Given the description of an element on the screen output the (x, y) to click on. 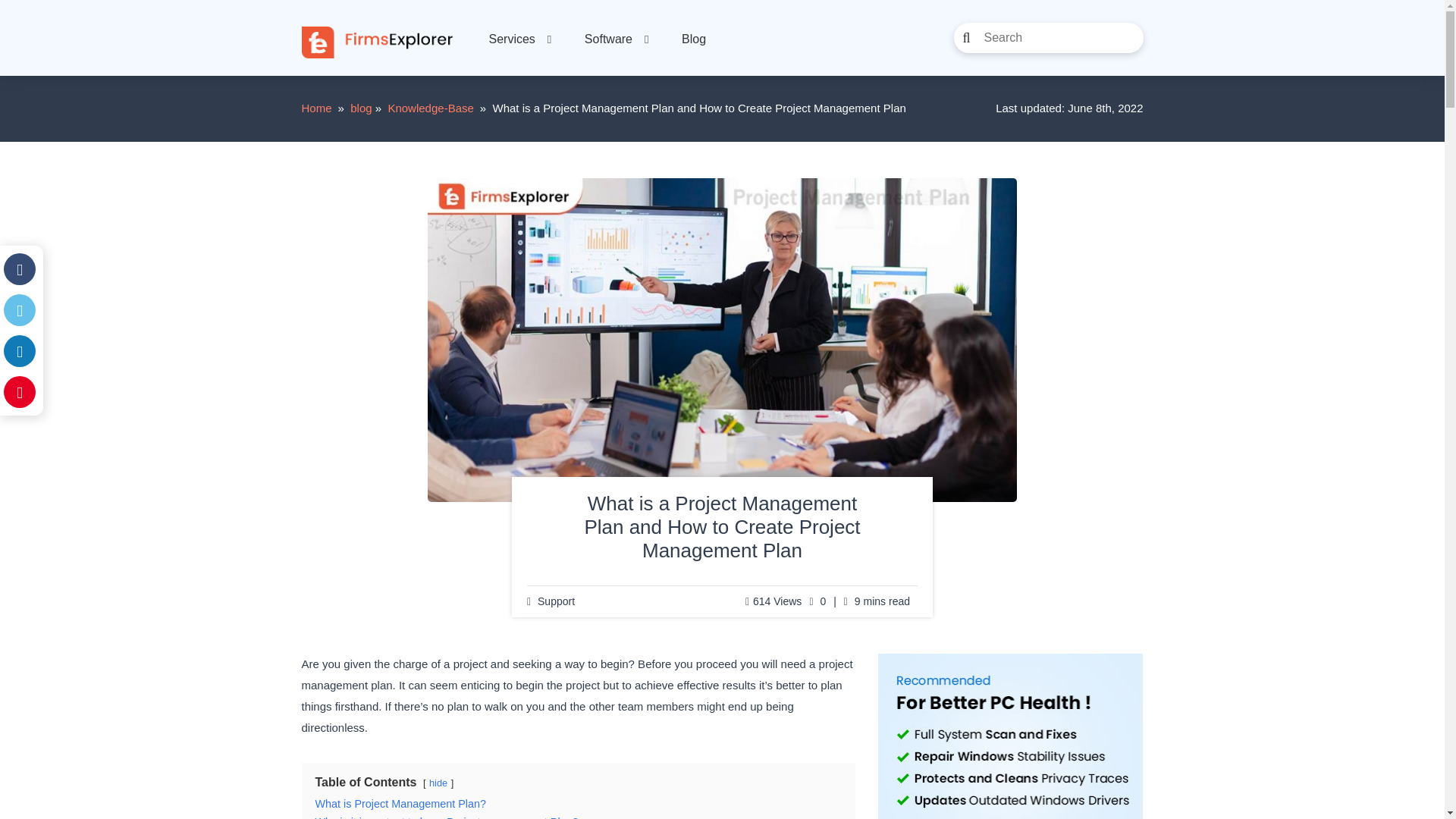
Services (518, 39)
Services (518, 39)
